Given the description of an element on the screen output the (x, y) to click on. 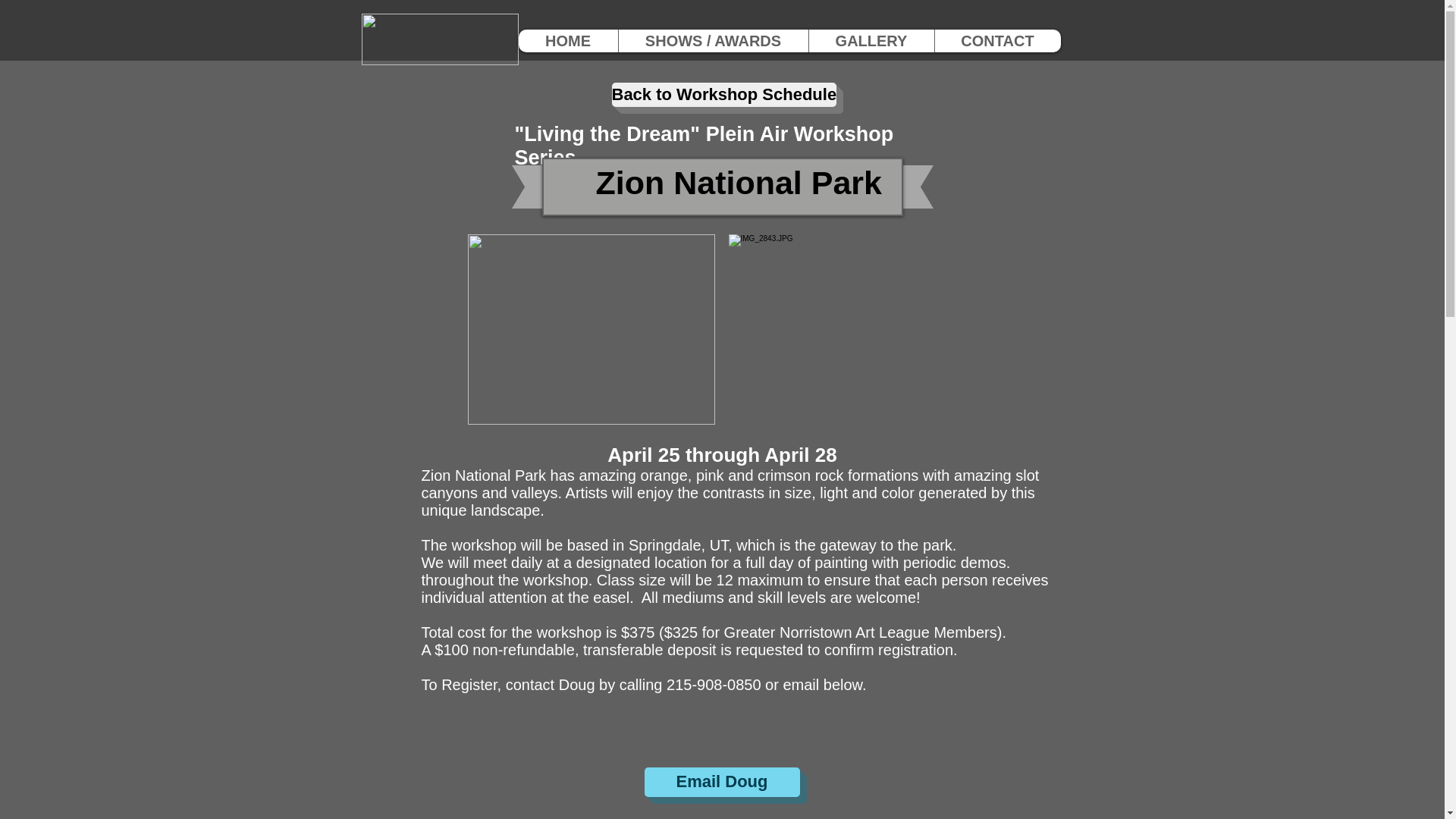
CONTACT (997, 40)
Back to Workshop Schedule (723, 94)
HOME (567, 40)
Email Doug (722, 781)
GALLERY (871, 40)
